Given the description of an element on the screen output the (x, y) to click on. 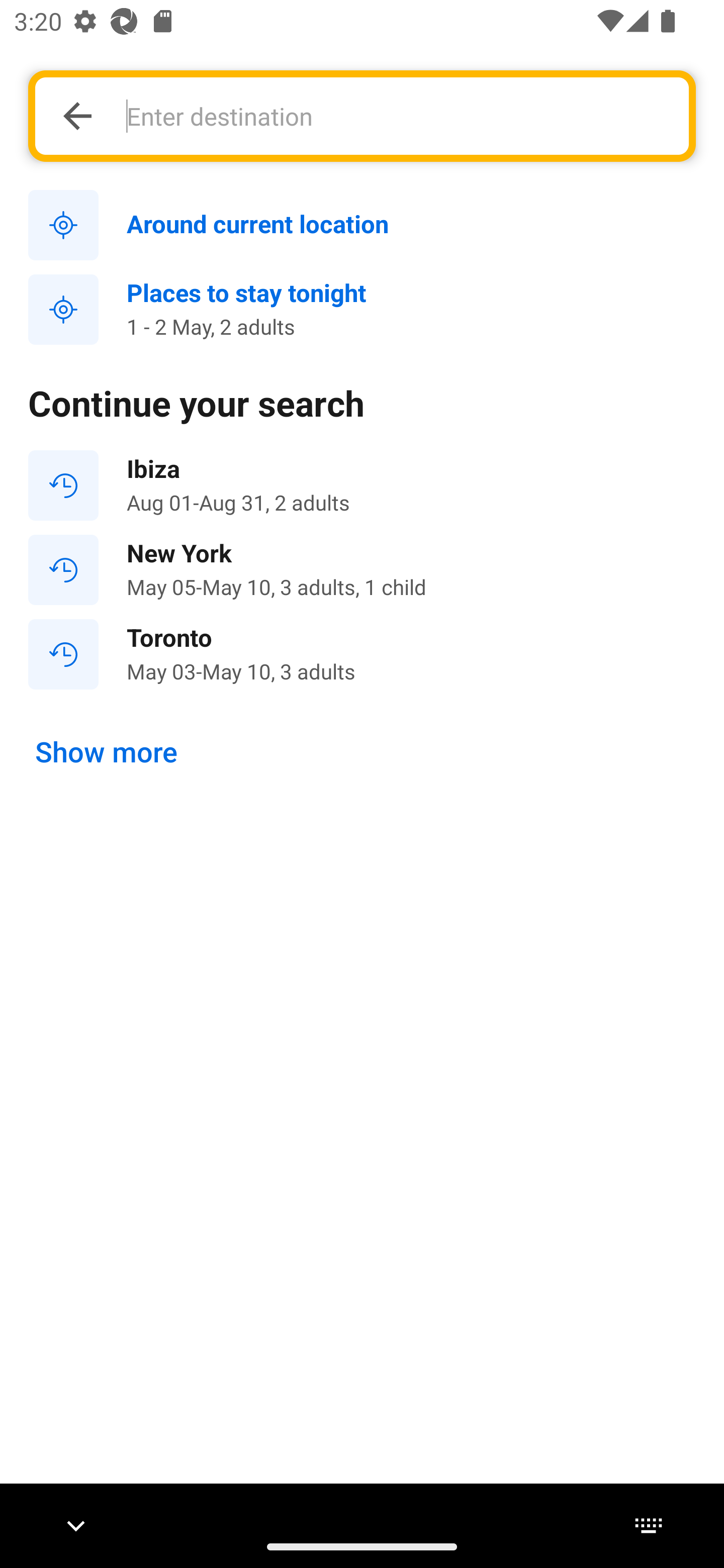
Enter destination (396, 115)
Around current location (362, 225)
Places to stay tonight 1 - 2 May, 2 adults (362, 309)
Ibiza Aug 01-Aug 31, 2 adults  (362, 485)
New York May 05-May 10, 3 adults, 1 child (362, 569)
Toronto May 03-May 10, 3 adults  (362, 653)
Show more (106, 752)
